Given the description of an element on the screen output the (x, y) to click on. 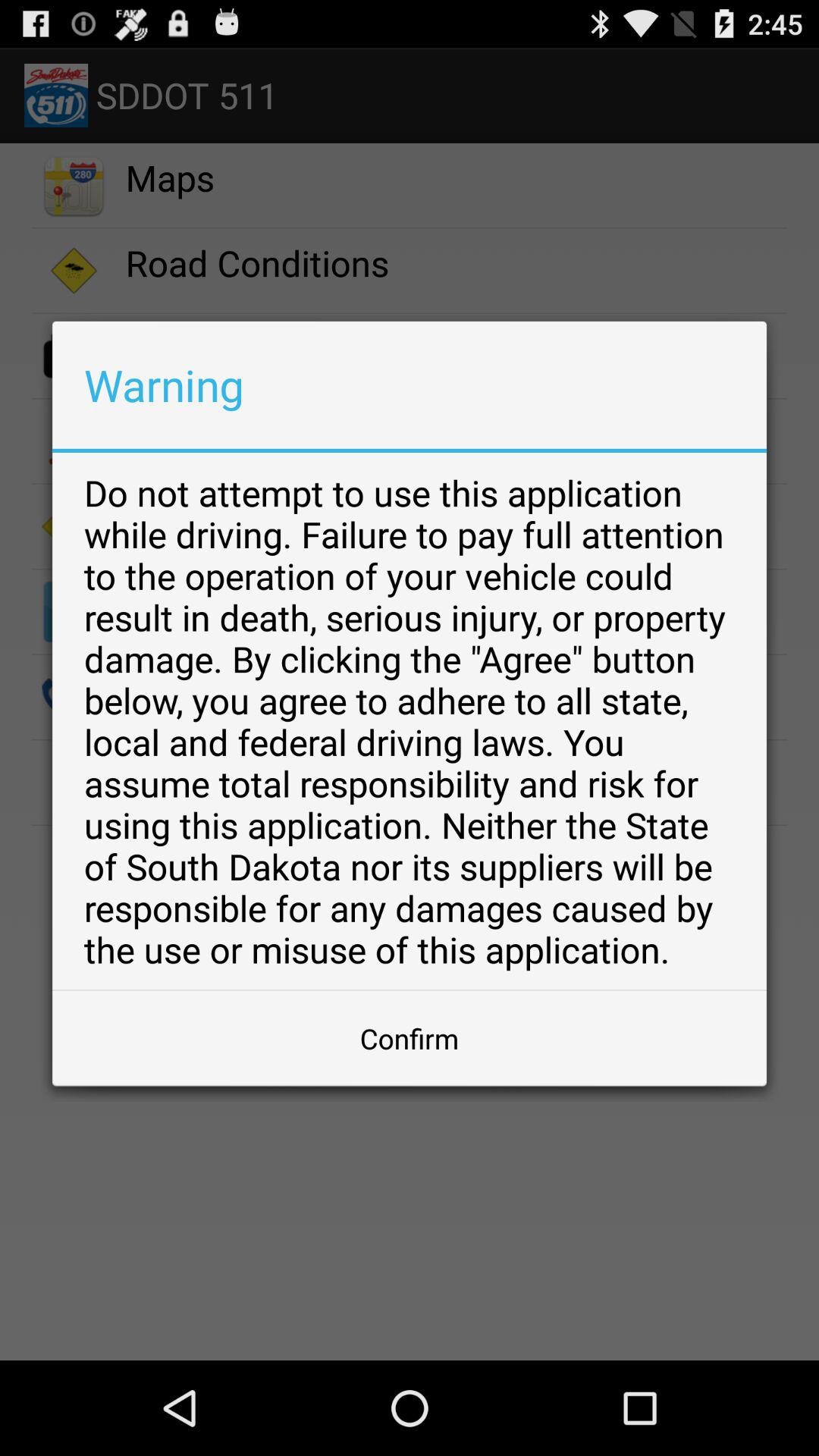
open item below the do not attempt icon (409, 1038)
